Given the description of an element on the screen output the (x, y) to click on. 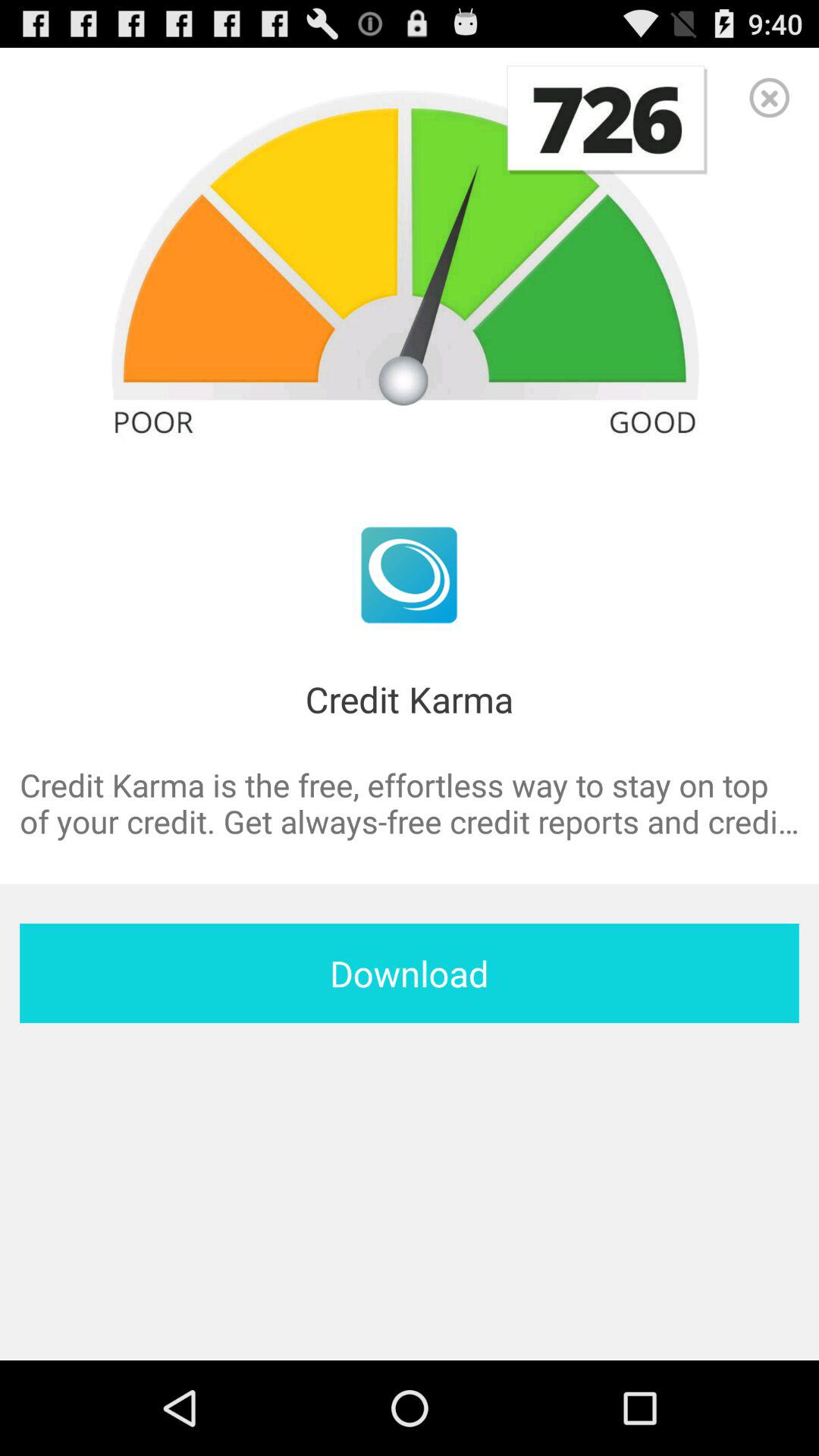
turn on item at the top right corner (769, 97)
